Given the description of an element on the screen output the (x, y) to click on. 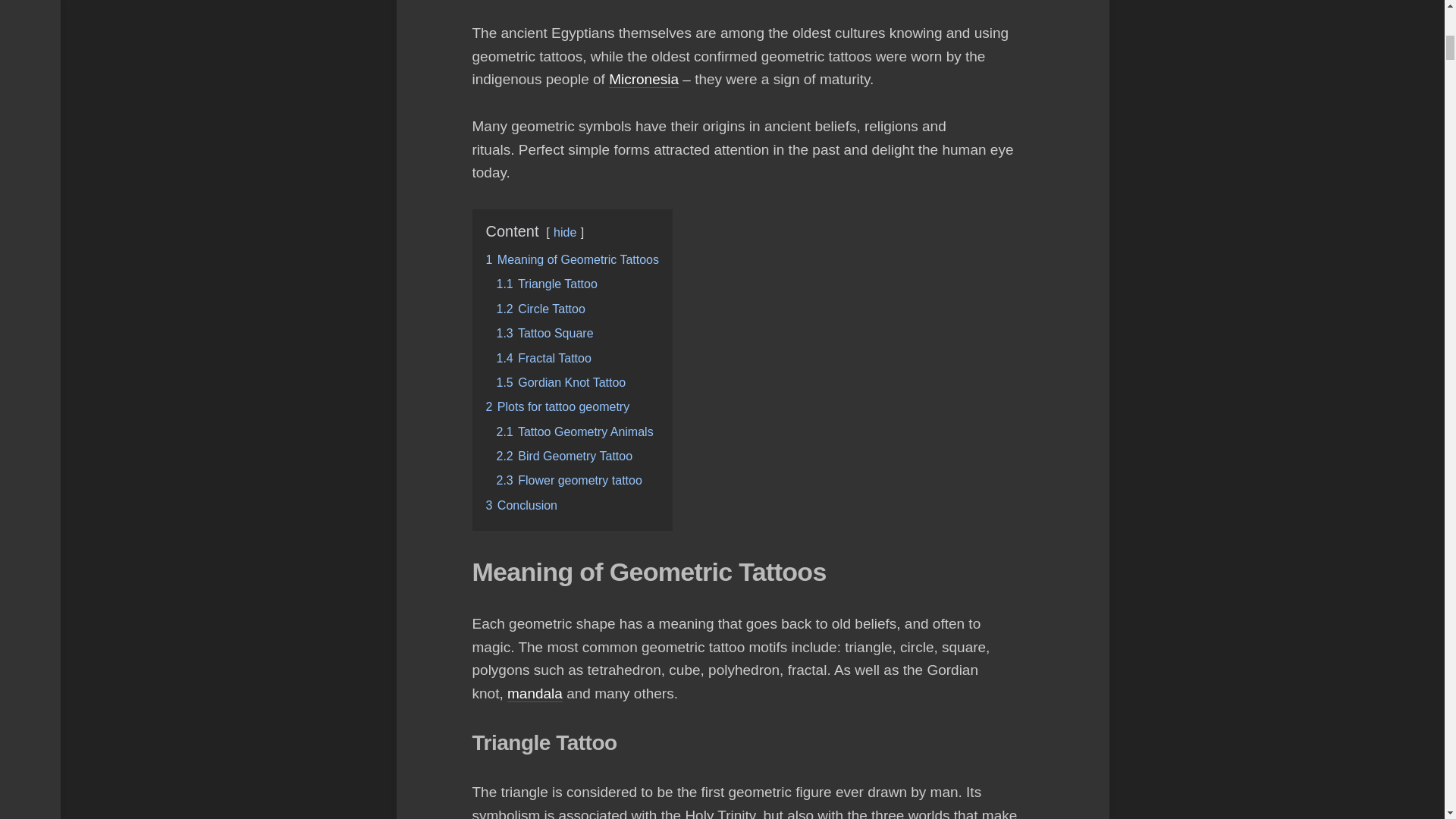
Micronesia (643, 78)
hide (564, 232)
1 Meaning of Geometric Tattoos (571, 259)
